Given the description of an element on the screen output the (x, y) to click on. 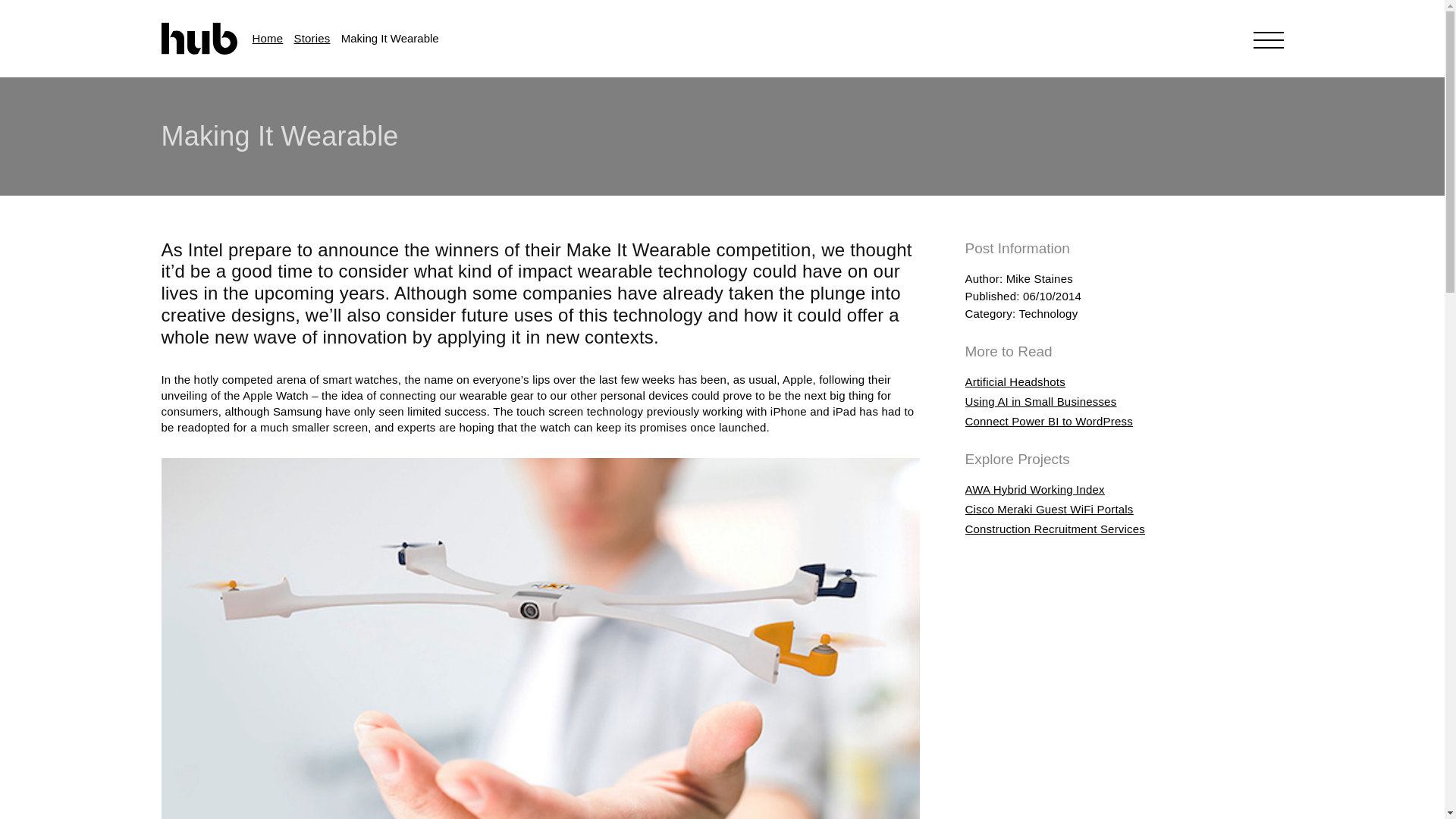
Cisco Meraki Guest WiFi Portals (1047, 508)
Artificial Headshots (1013, 381)
Stories (312, 38)
AWA Hybrid Working Index (1033, 489)
Home (266, 38)
Using AI in Small Businesses (1039, 400)
Connect Power BI to WordPress (1047, 420)
Construction Recruitment Services (1053, 528)
